Given the description of an element on the screen output the (x, y) to click on. 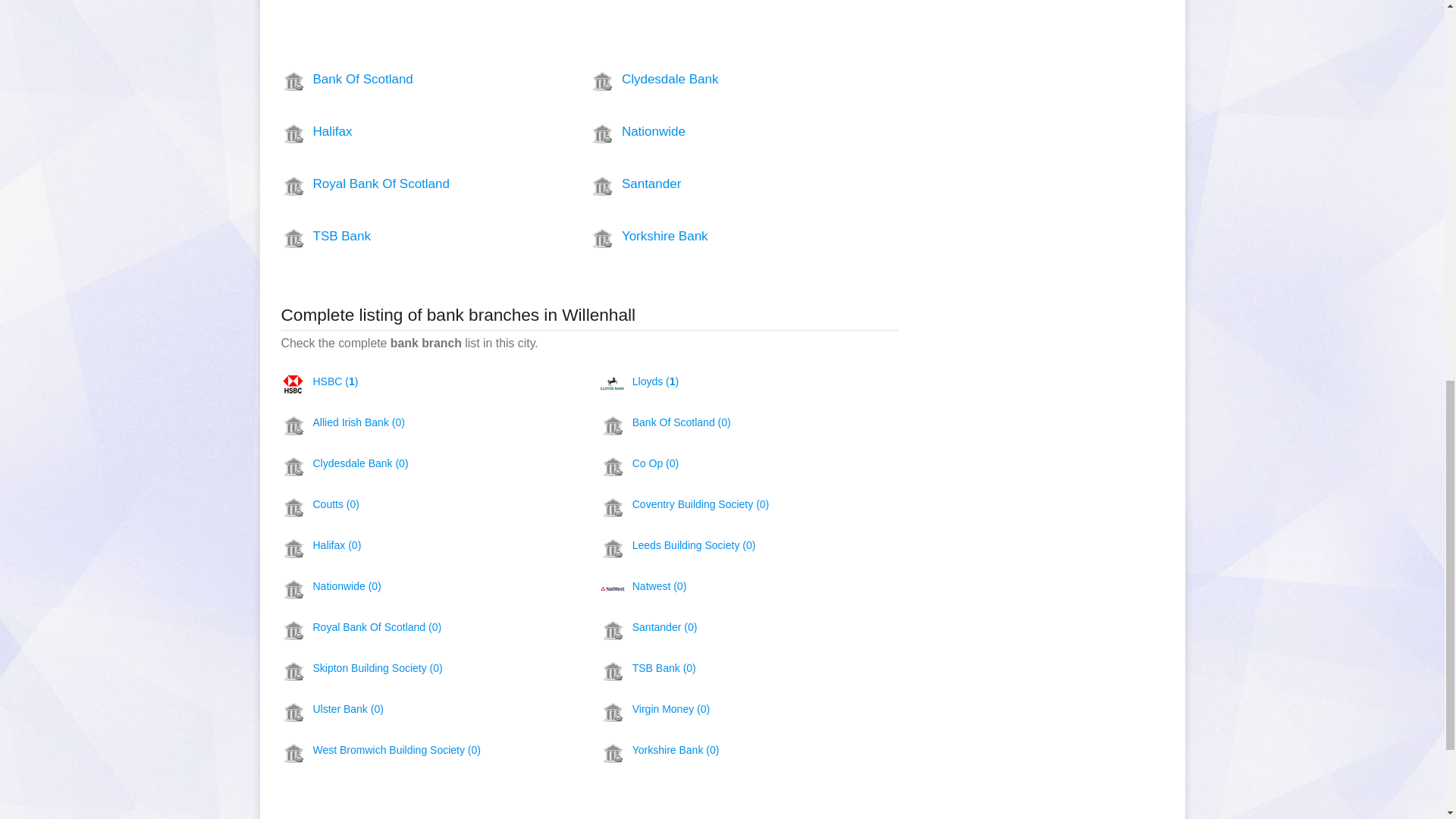
Clydesdale Bank (715, 79)
Nationwide (715, 131)
Clydesdale Bank (715, 79)
Yorkshire Bank (715, 236)
Royal Bank Of Scotland (407, 183)
Santander (715, 183)
Halifax (407, 131)
TSB Bank (407, 236)
Bank Of Scotland (407, 79)
Bank Of Scotland (407, 79)
